Given the description of an element on the screen output the (x, y) to click on. 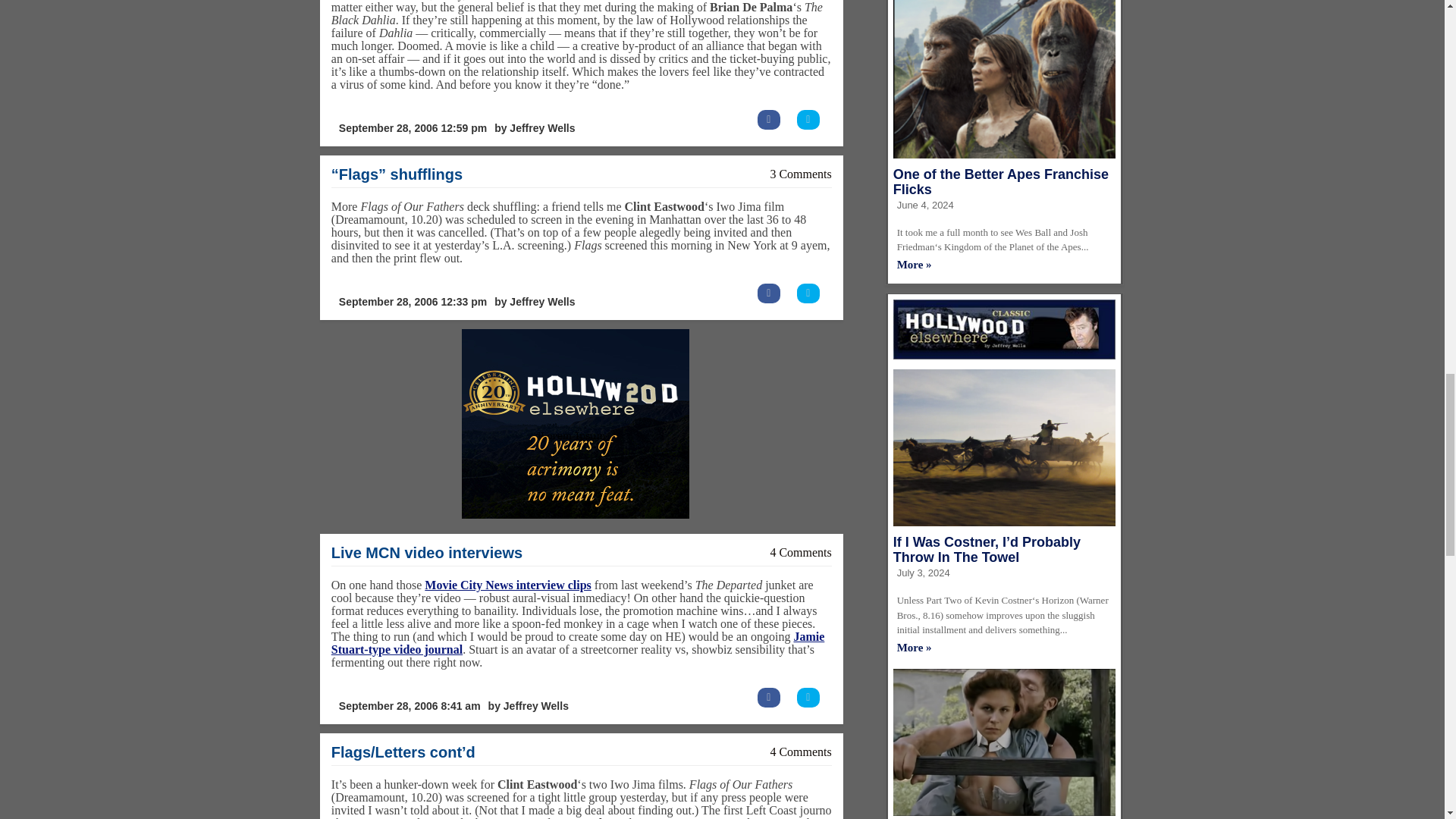
Permanent Link to Live MCN video interviews (426, 552)
